Given the description of an element on the screen output the (x, y) to click on. 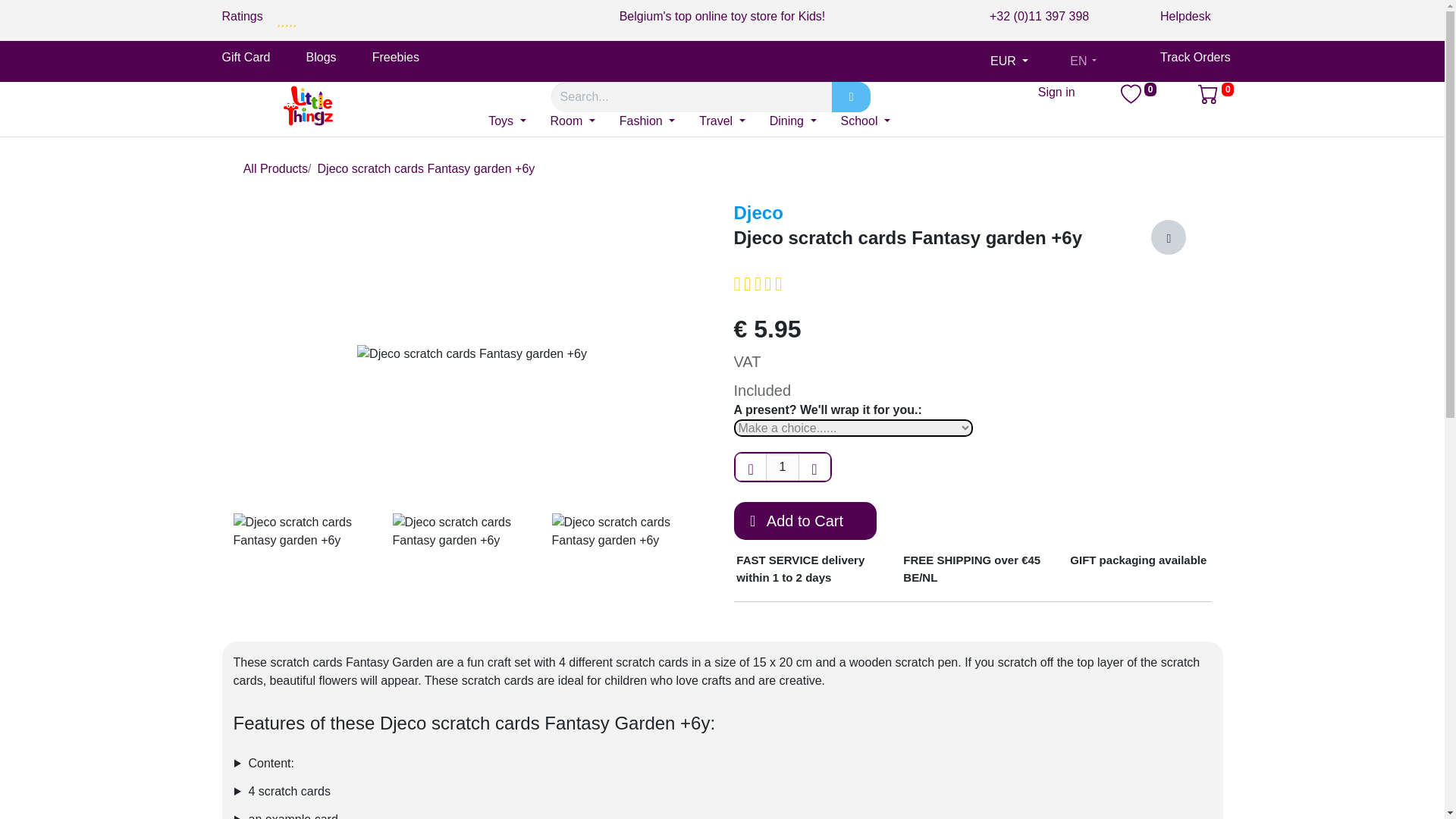
EUR (1009, 61)
Helpdesk (1191, 16)
Gift Card (245, 60)
0 (1136, 98)
Search (850, 96)
EN (1082, 61)
1 (782, 466)
Blogs (320, 56)
Freebies (395, 56)
0 (1216, 92)
Ratings     (248, 15)
Toys (506, 121)
Track Orders (1191, 56)
Sign in (1056, 91)
